Given the description of an element on the screen output the (x, y) to click on. 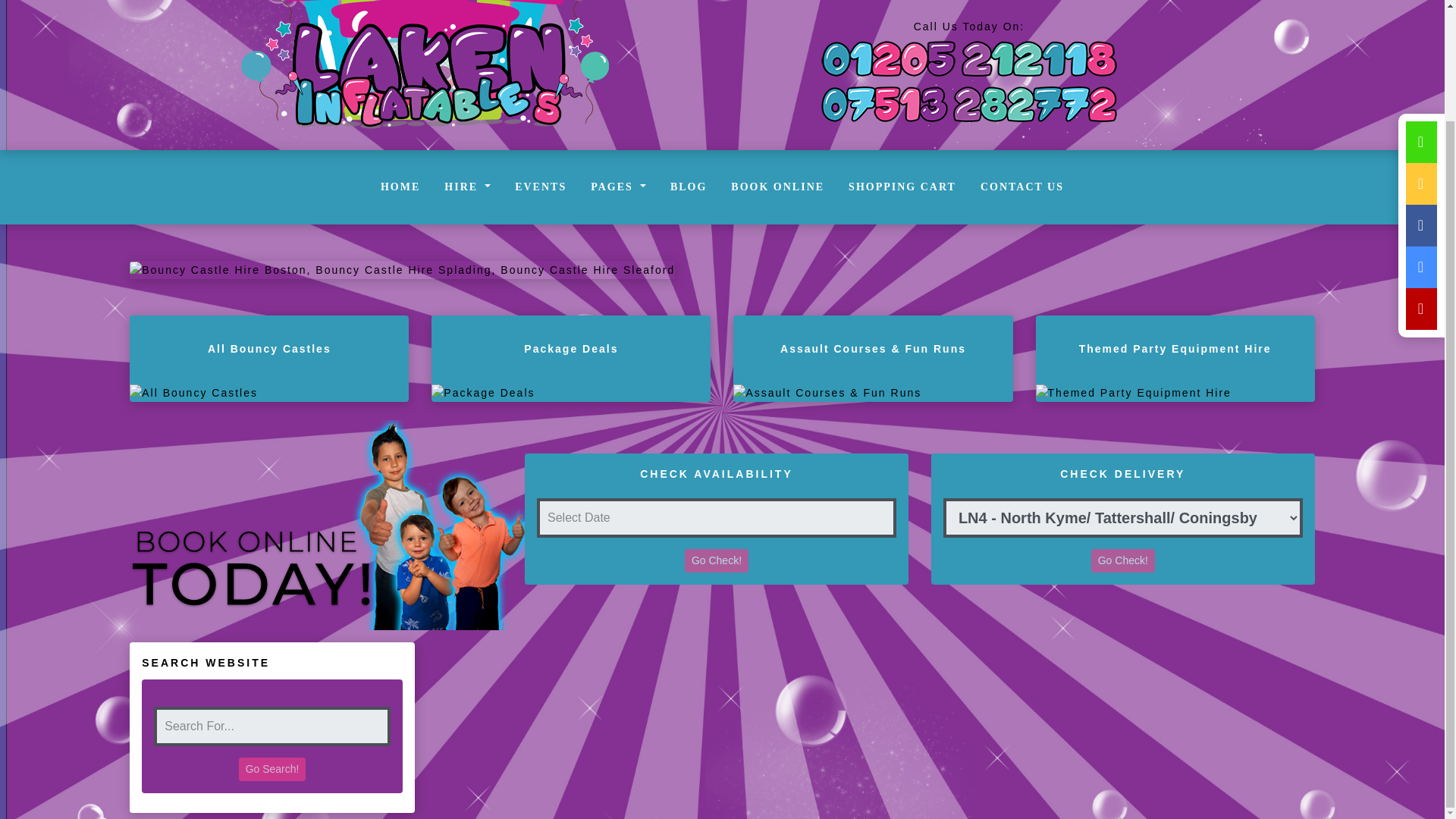
View Our Themed Party Equipment Hire (1174, 393)
Go Check! (716, 560)
Laken Inflatables (425, 74)
RPII Tested (979, 1)
Call us today! (968, 103)
HIRE (467, 187)
Go Check! (1122, 560)
Laken Inflatables Hire Boston, Spalding, Sleaford (402, 268)
Go Search! (271, 769)
Call Us Today 01205 212118 (968, 58)
